Given the description of an element on the screen output the (x, y) to click on. 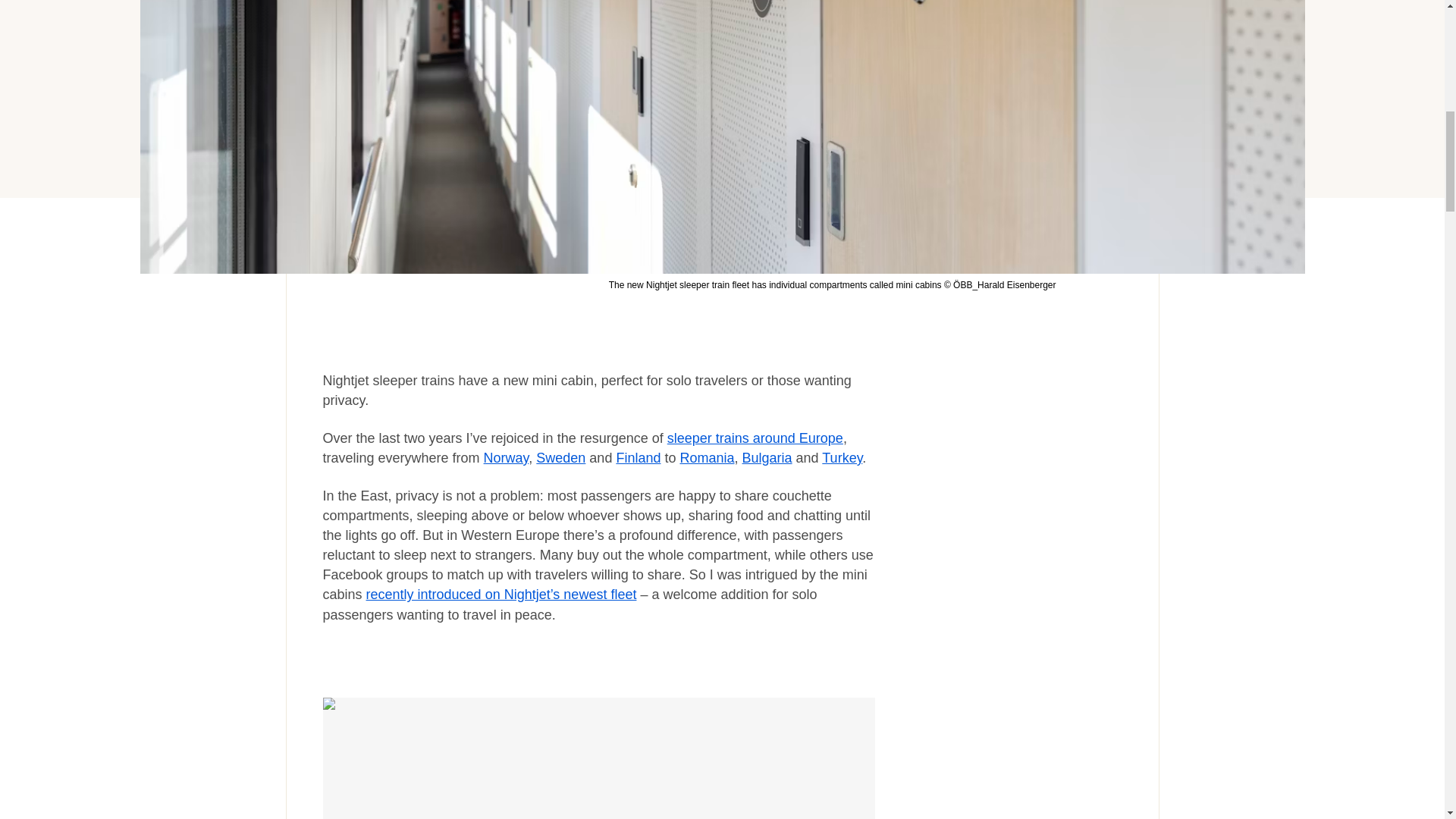
sleeper trains around Europe (754, 437)
Bulgaria (767, 458)
Sweden (560, 458)
Turkey (841, 458)
Romania (706, 458)
Norway (506, 458)
Finland (638, 458)
